Given the description of an element on the screen output the (x, y) to click on. 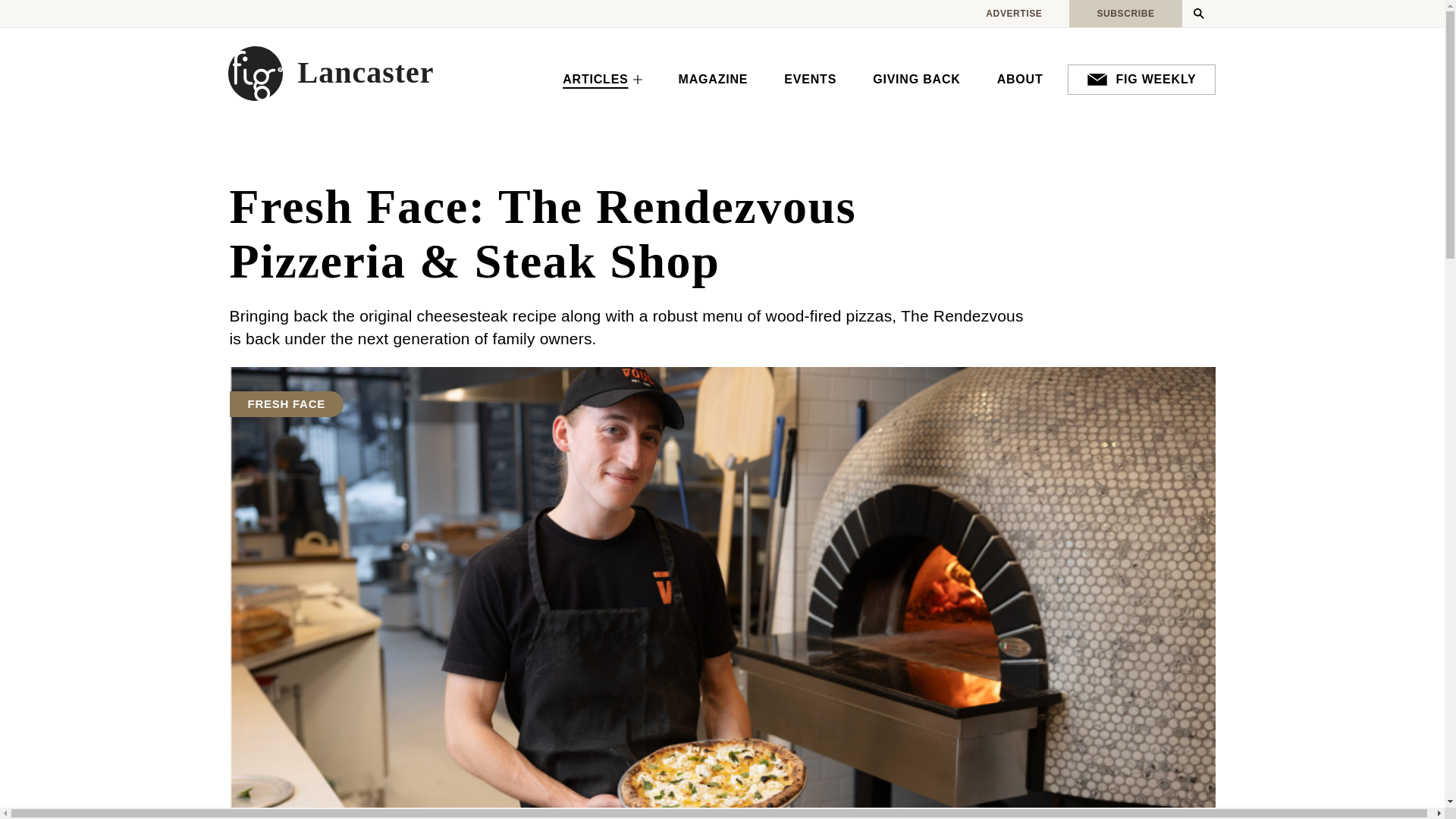
ADVERTISE (1013, 13)
SUBSCRIBE (1124, 13)
FIG WEEKLY (1141, 79)
Lancaster (330, 72)
EVENTS (809, 79)
ARTICLES (601, 79)
ABOUT (1019, 79)
GIVING BACK (916, 79)
MAGAZINE (714, 79)
